Given the description of an element on the screen output the (x, y) to click on. 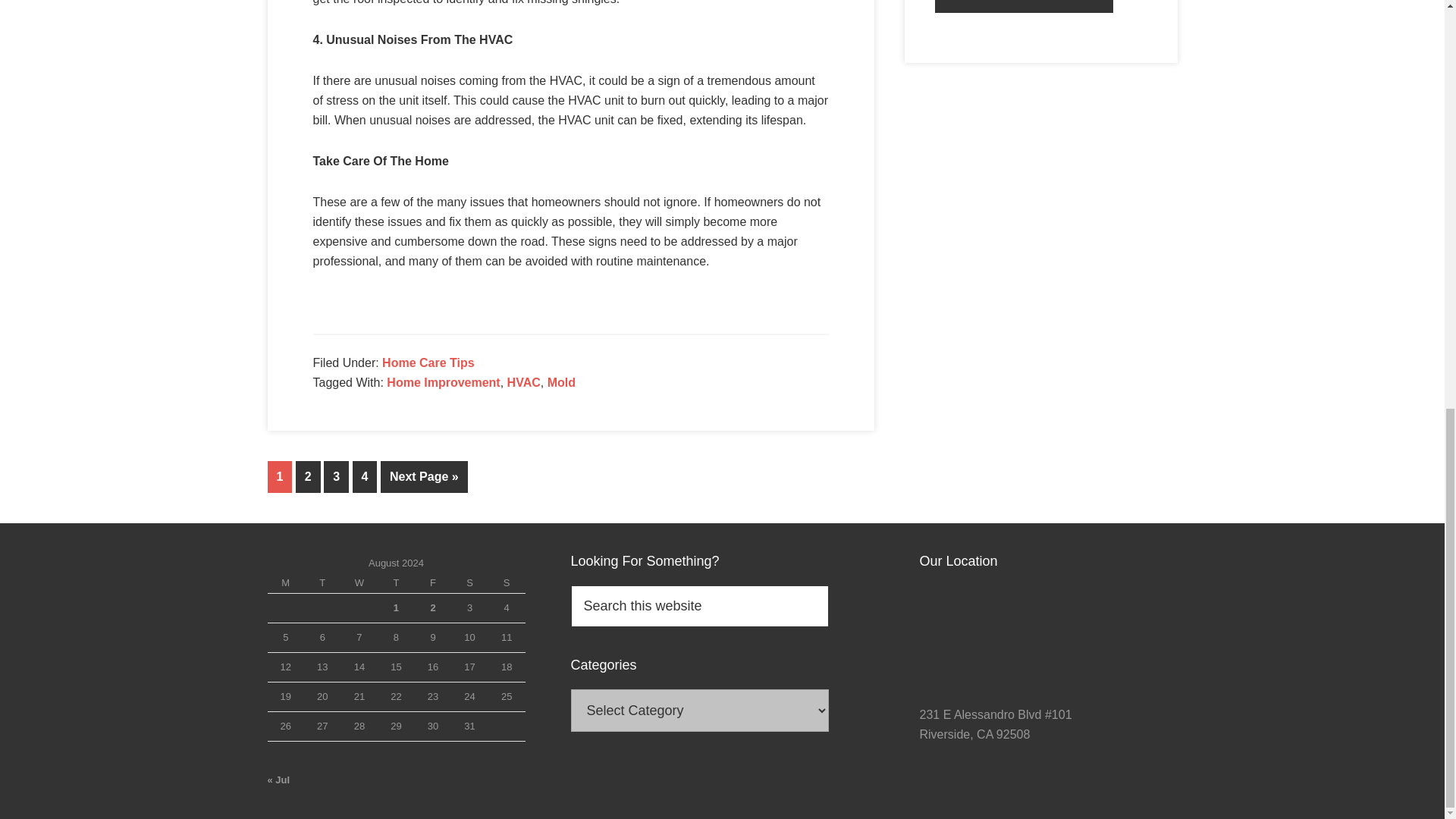
Thursday (395, 583)
Wednesday (359, 583)
HVAC (523, 382)
Saturday (469, 583)
Home Care Tips (427, 362)
Mold (561, 382)
Home Improvement (443, 382)
Monday (285, 583)
Sunday (506, 583)
Send My Information (1023, 6)
Tuesday (322, 583)
Send My Information (1023, 6)
Friday (432, 583)
